Given the description of an element on the screen output the (x, y) to click on. 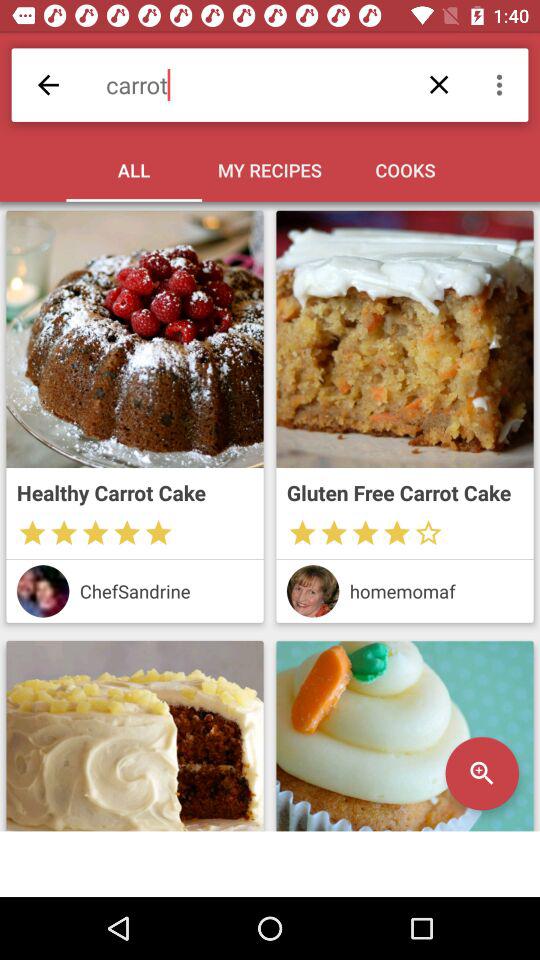
tap item next to carrot item (501, 84)
